Given the description of an element on the screen output the (x, y) to click on. 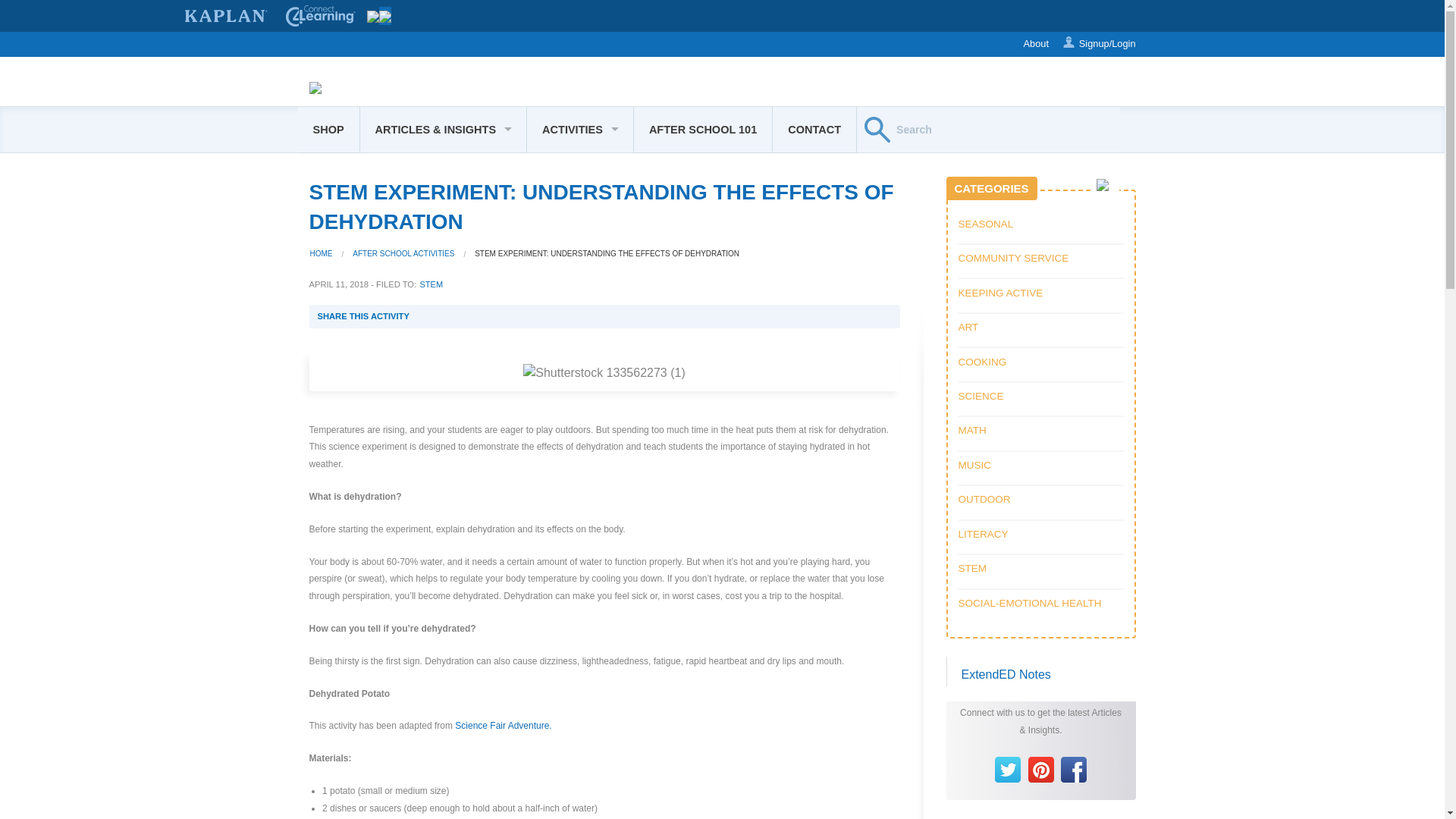
SOCIAL-EMOTIONAL LEARNING (443, 170)
About (1035, 44)
PARENTAL ENGAGEMENT (443, 425)
MATH (580, 425)
SEASONAL (580, 170)
ACTIVITIES (580, 129)
TEACHING STRATEGIES (443, 352)
AFTER SCHOOL ADVOCACY (443, 206)
CONTACT (815, 129)
PROGRAM DEVELOPMENT (443, 315)
MUSIC (580, 315)
COMMUNITY SERVICE (580, 461)
PHYSICAL ACTIVITY (443, 461)
BULLYING AND SAFETY (443, 388)
STEM (443, 279)
